Given the description of an element on the screen output the (x, y) to click on. 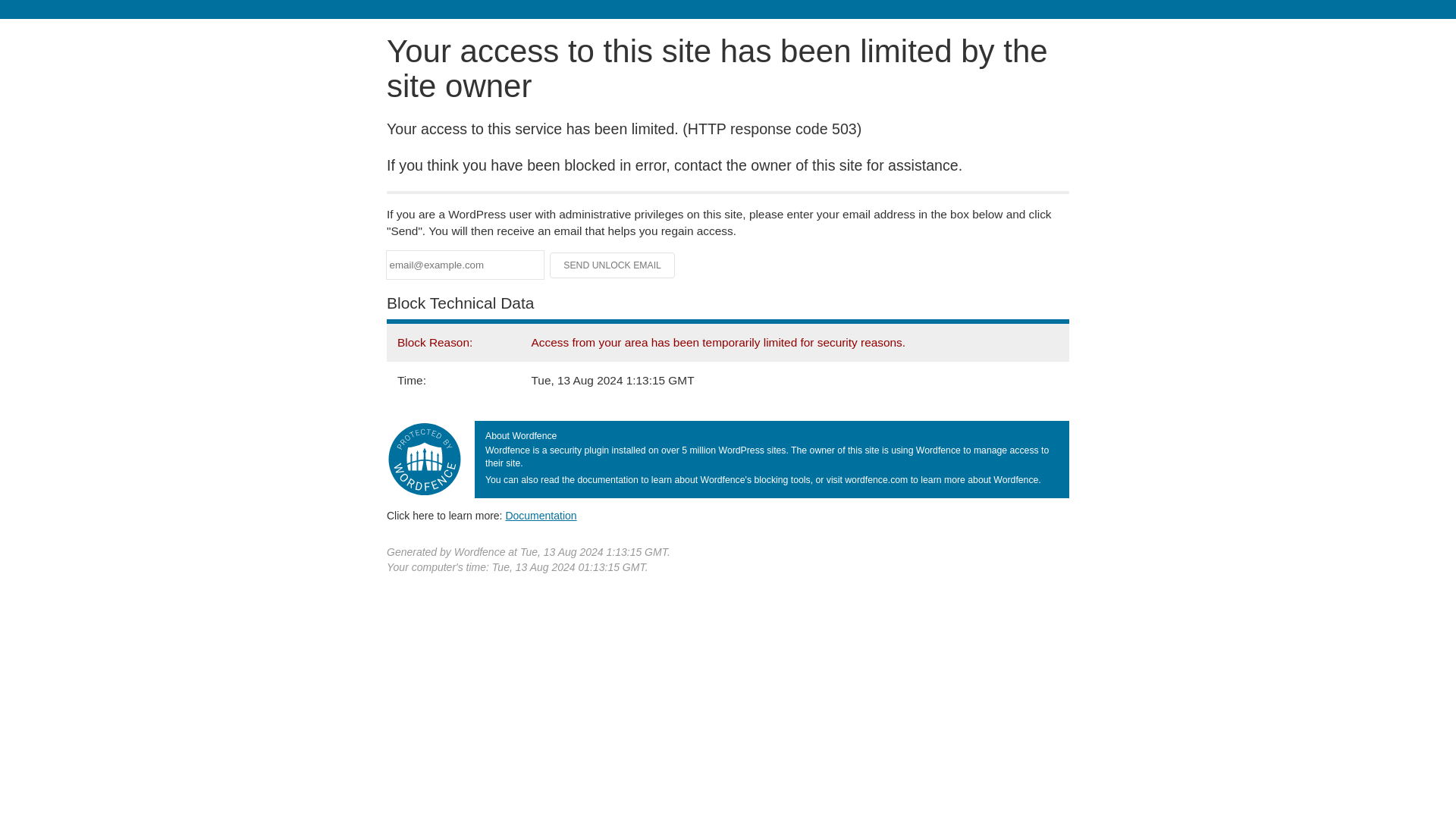
Send Unlock Email (612, 265)
Documentation (540, 515)
Send Unlock Email (612, 265)
